Given the description of an element on the screen output the (x, y) to click on. 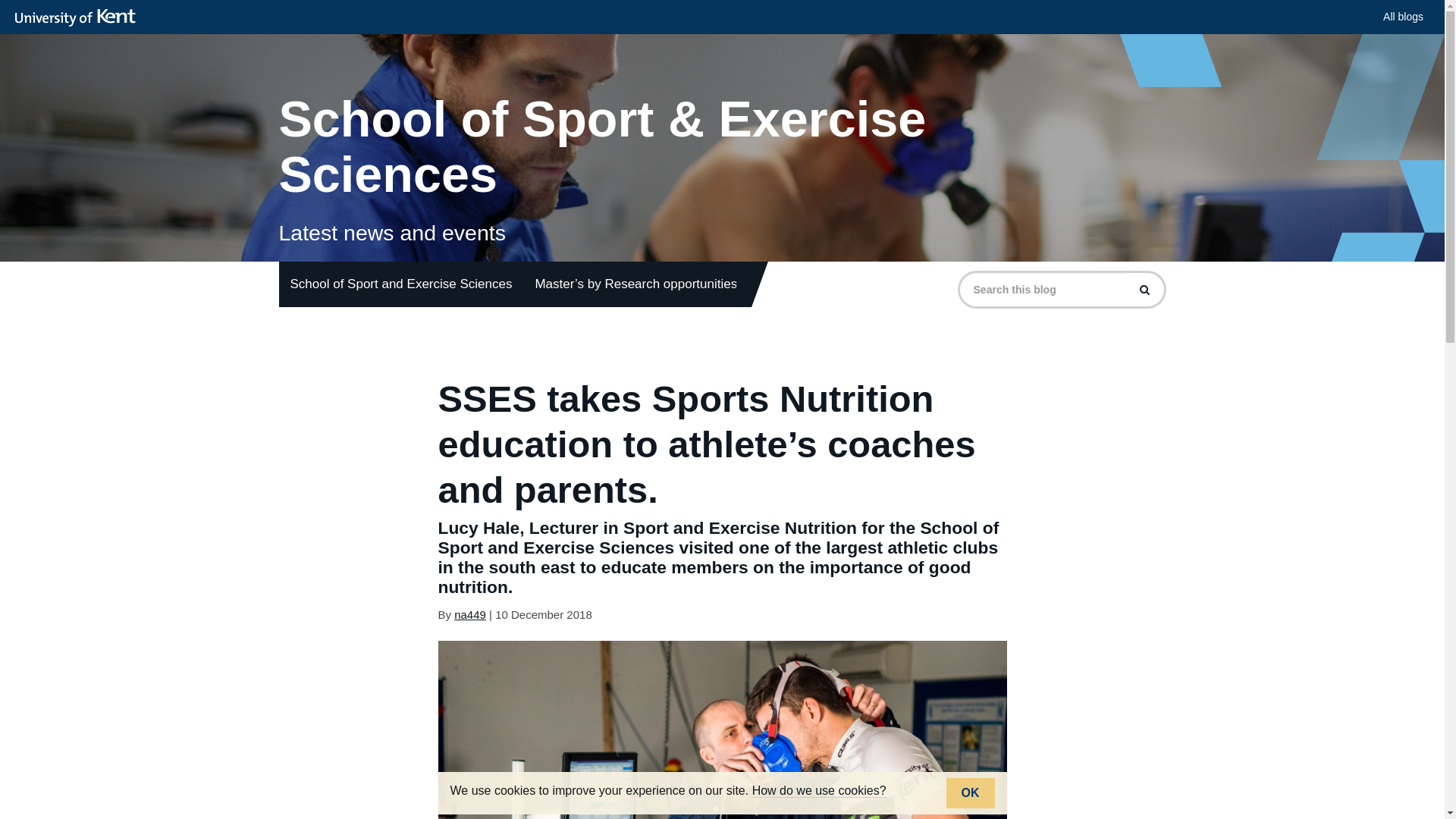
University of Kent (78, 18)
All blogs (1403, 16)
Search (1144, 289)
OK (970, 793)
How do we use cookies? (819, 790)
na449 (470, 614)
University of Kent website homepage (78, 18)
School of Sport and Exercise Sciences (401, 284)
